Given the description of an element on the screen output the (x, y) to click on. 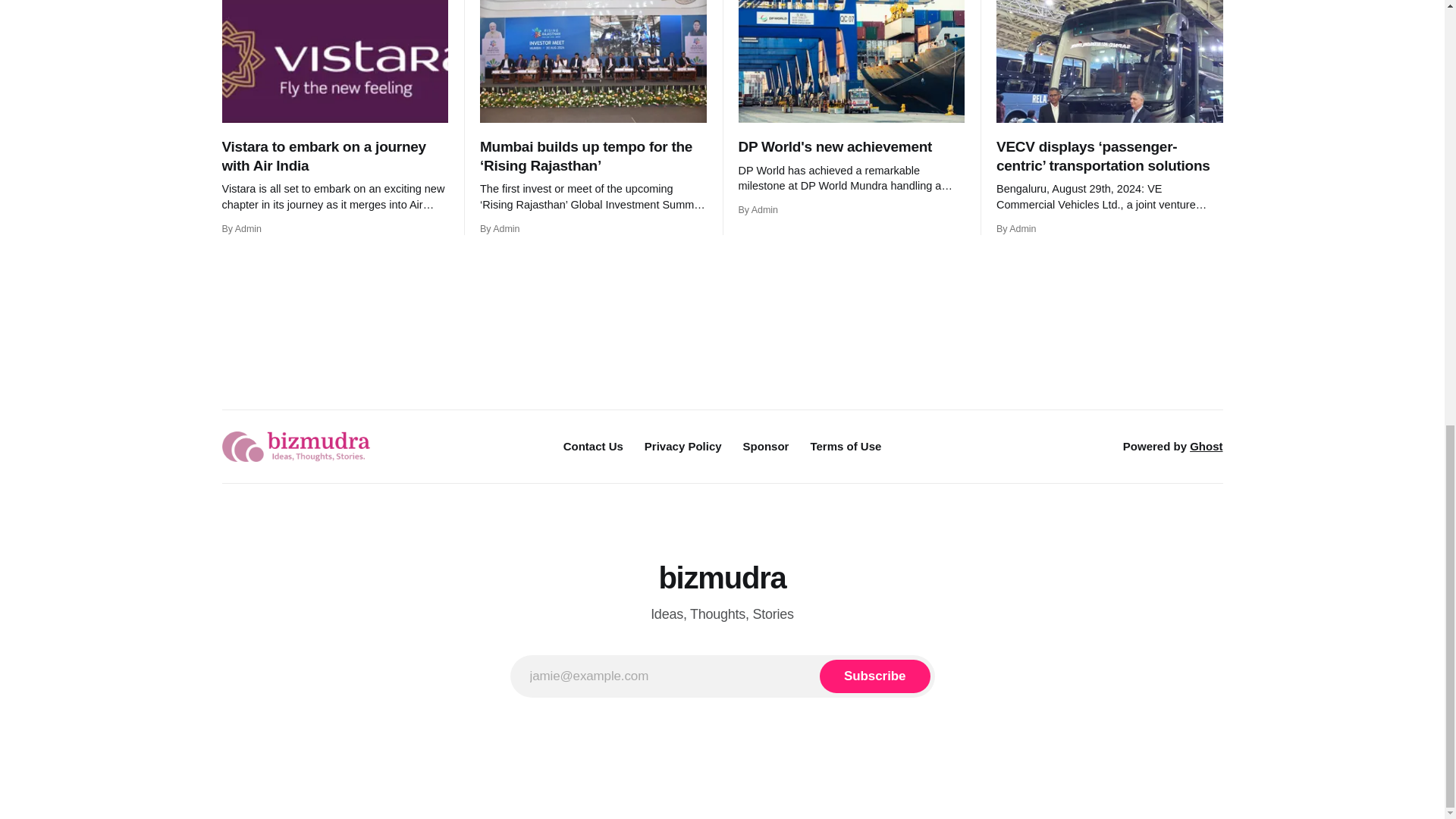
Privacy Policy (683, 445)
Contact Us (593, 445)
Terms of Use (844, 445)
Sponsor (765, 445)
Ghost (1206, 445)
Subscribe (874, 676)
